Given the description of an element on the screen output the (x, y) to click on. 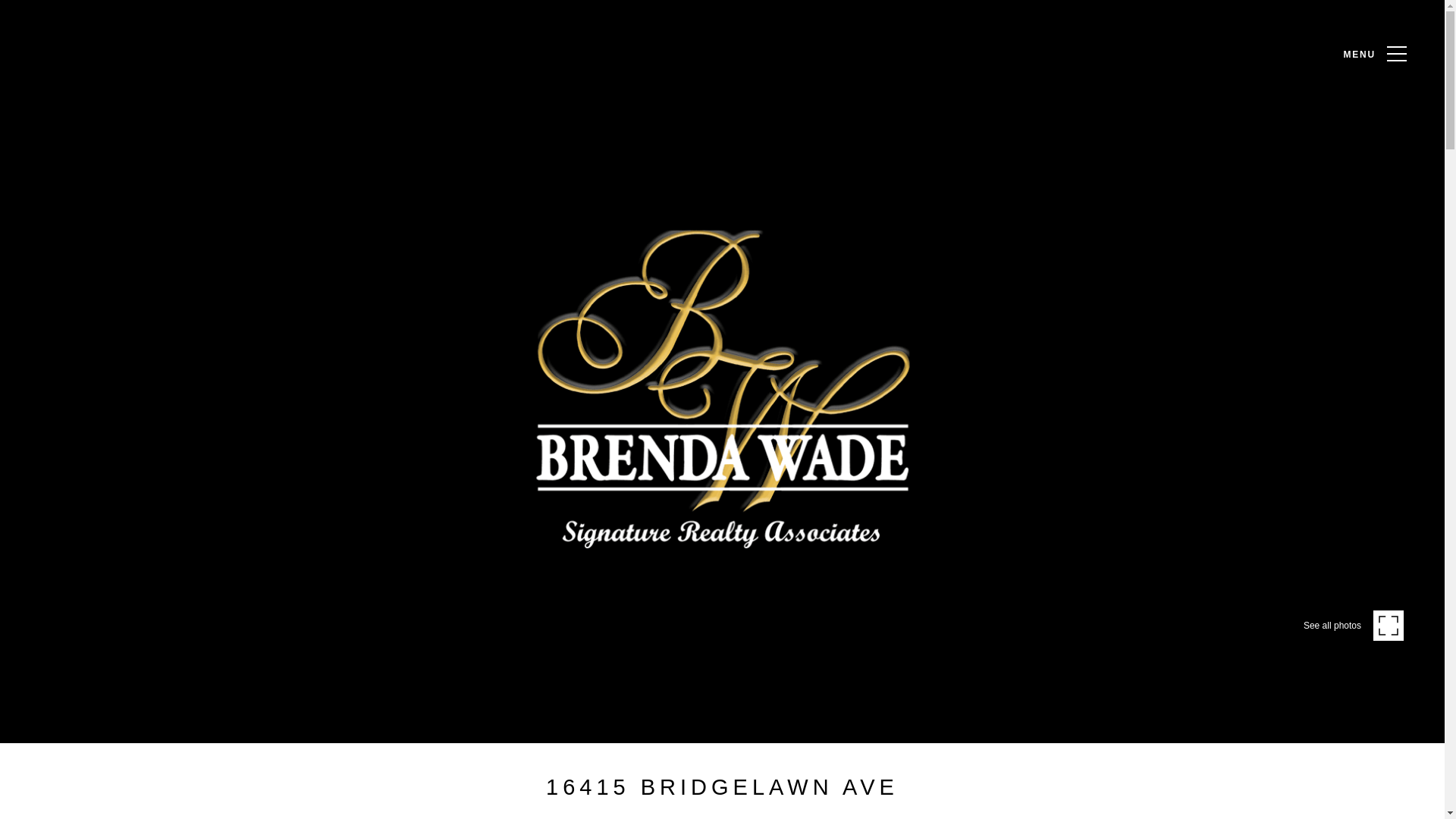
MENU (1370, 58)
See all photos (1353, 625)
